Given the description of an element on the screen output the (x, y) to click on. 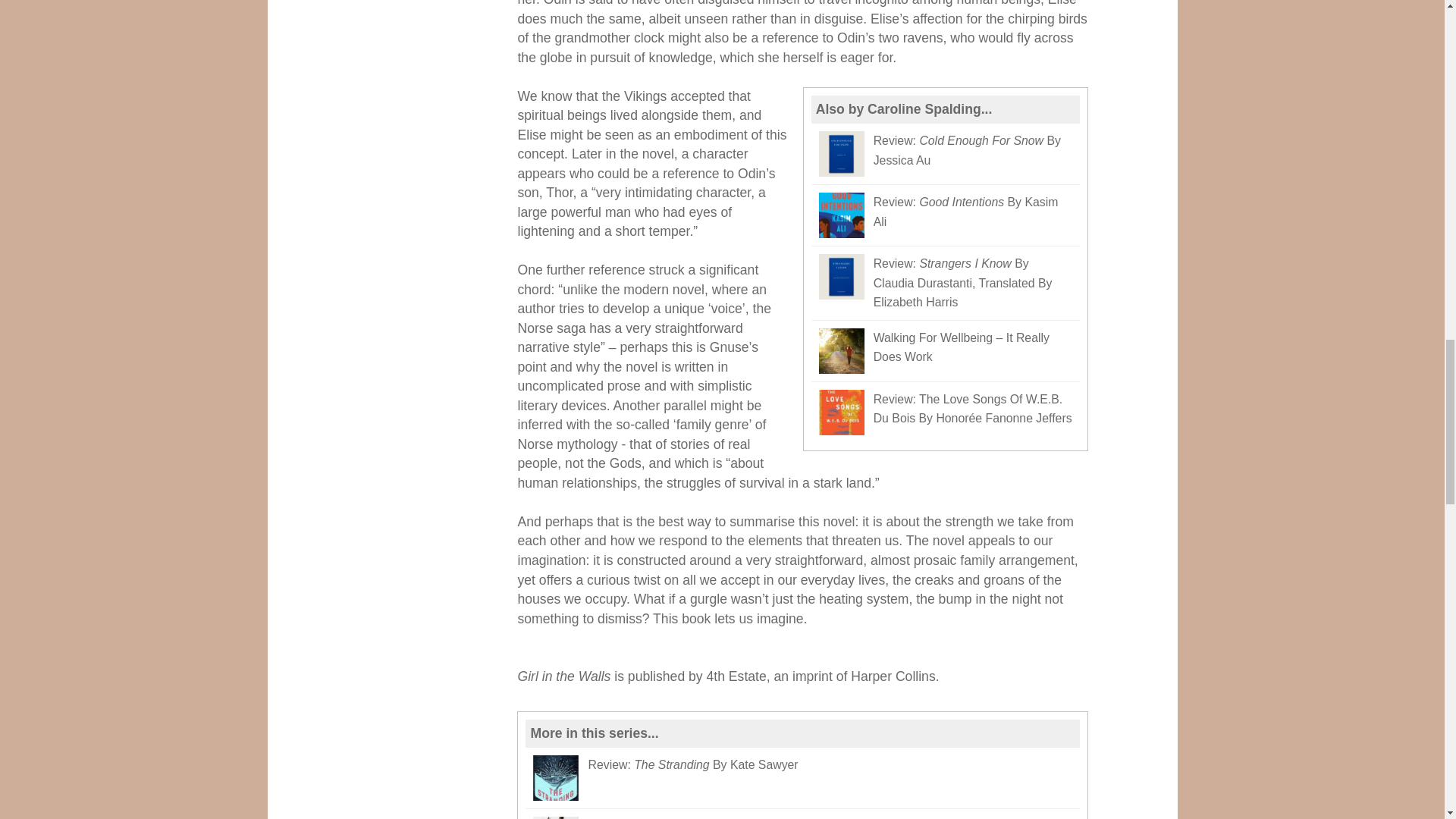
Review: The Stranding By Kate Sawyer (801, 778)
Review: Good Intentions By Kasim Ali (945, 215)
Review: You Let Me In by Camilla Bruce (801, 814)
Review: Cold Enough For Snow By Jessica Au (945, 154)
